Given the description of an element on the screen output the (x, y) to click on. 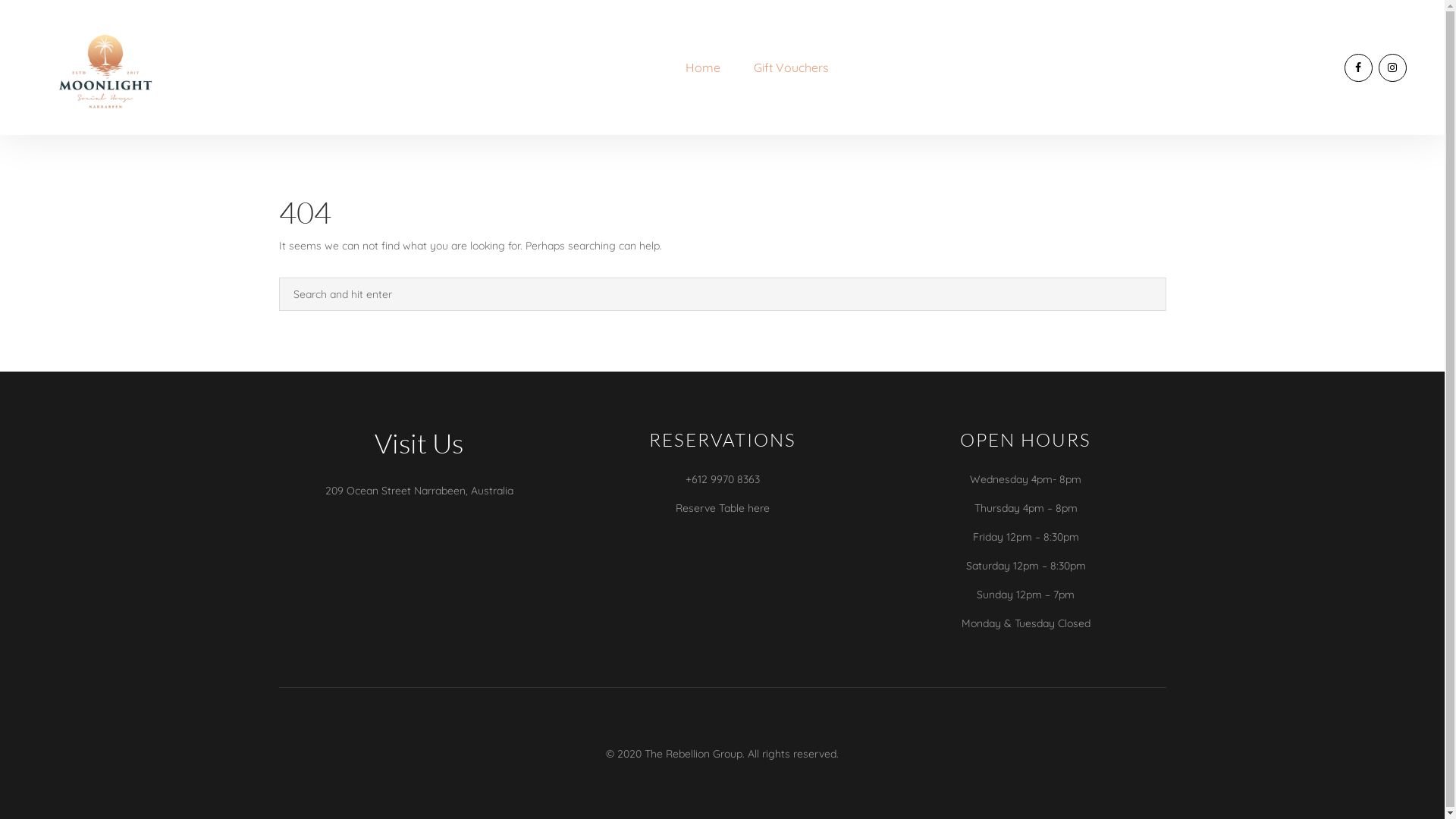
Reserve Table here Element type: text (721, 507)
Home Element type: text (702, 67)
Gift Vouchers Element type: text (790, 67)
